Given the description of an element on the screen output the (x, y) to click on. 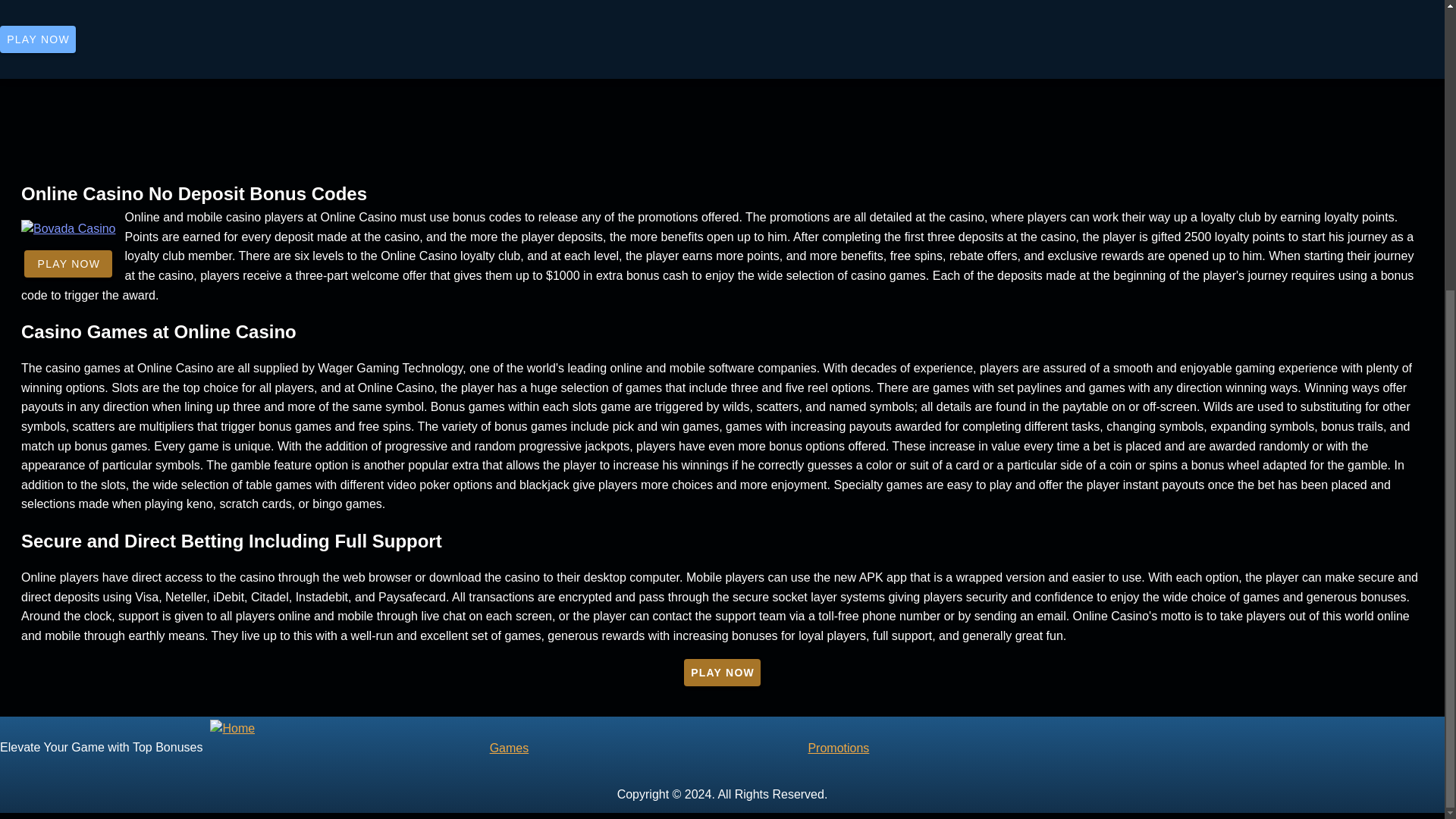
Games (648, 748)
PLAY NOW (722, 672)
Promotions (966, 748)
PLAY NOW (68, 263)
